Given the description of an element on the screen output the (x, y) to click on. 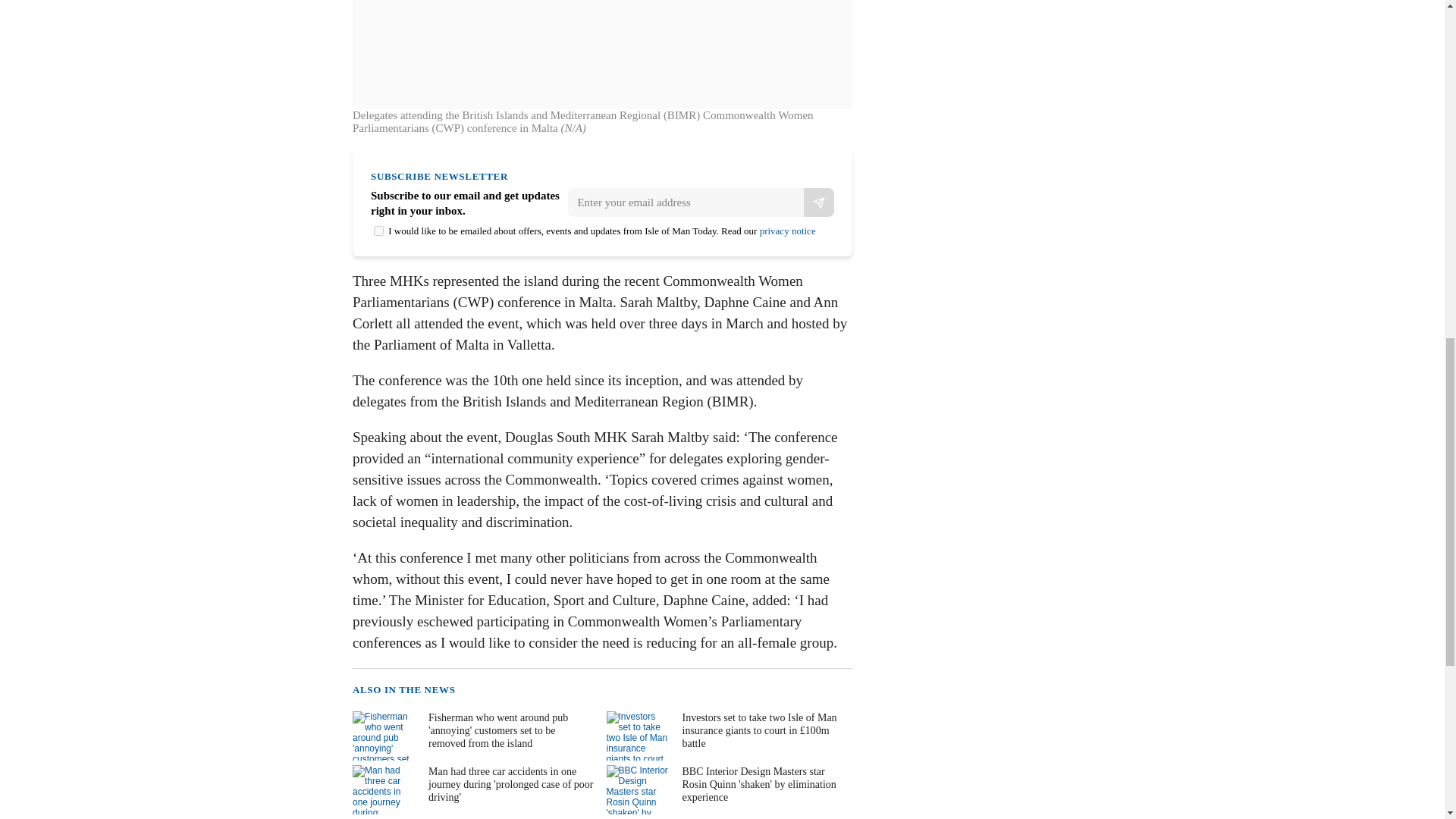
on (379, 230)
privacy notice (787, 230)
